Given the description of an element on the screen output the (x, y) to click on. 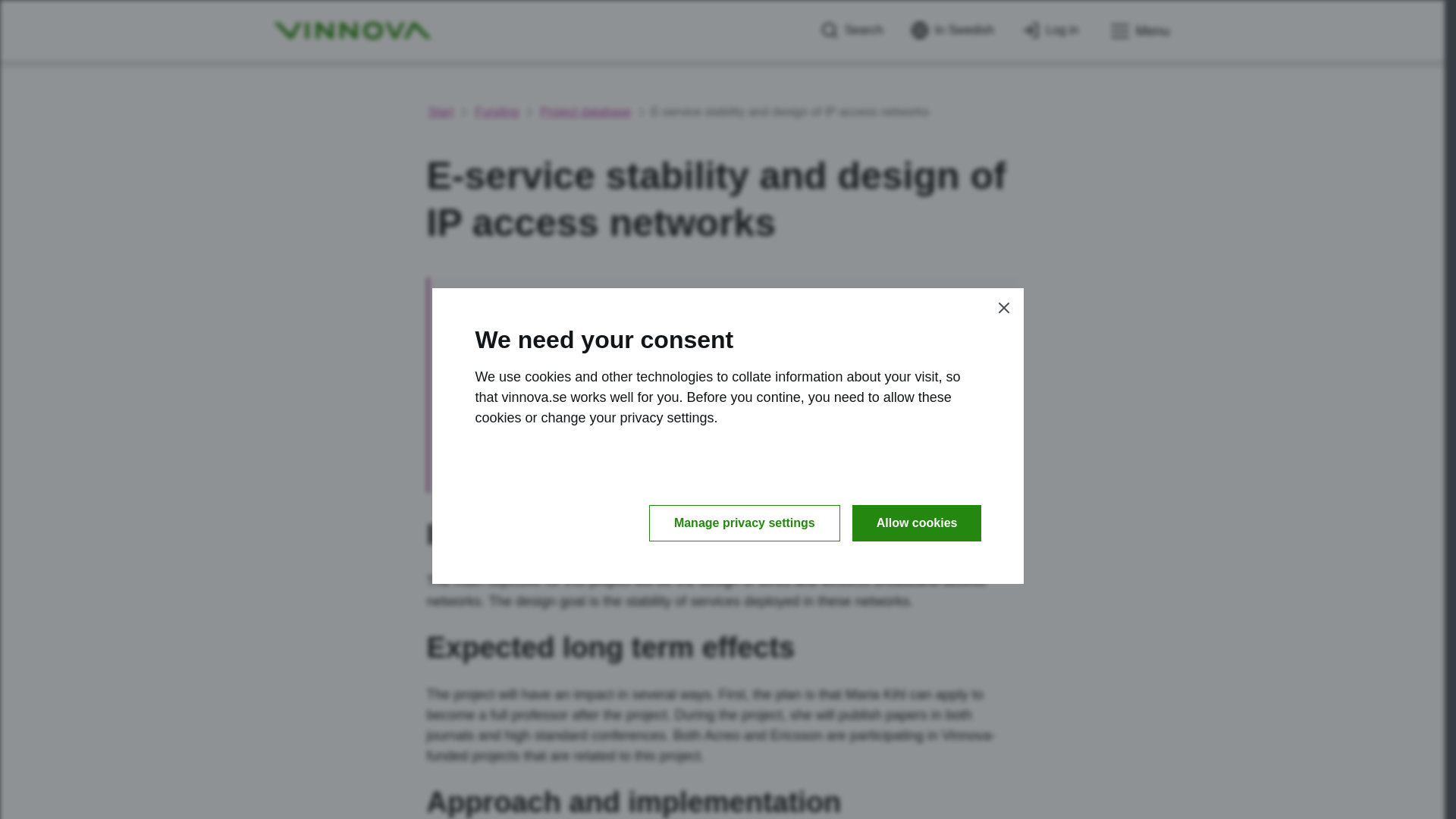
Search (851, 29)
Menu (1137, 31)
Vinnova logo, link to start page. (351, 29)
In Swedish (951, 29)
Menu (1137, 31)
Log in (1049, 29)
